Given the description of an element on the screen output the (x, y) to click on. 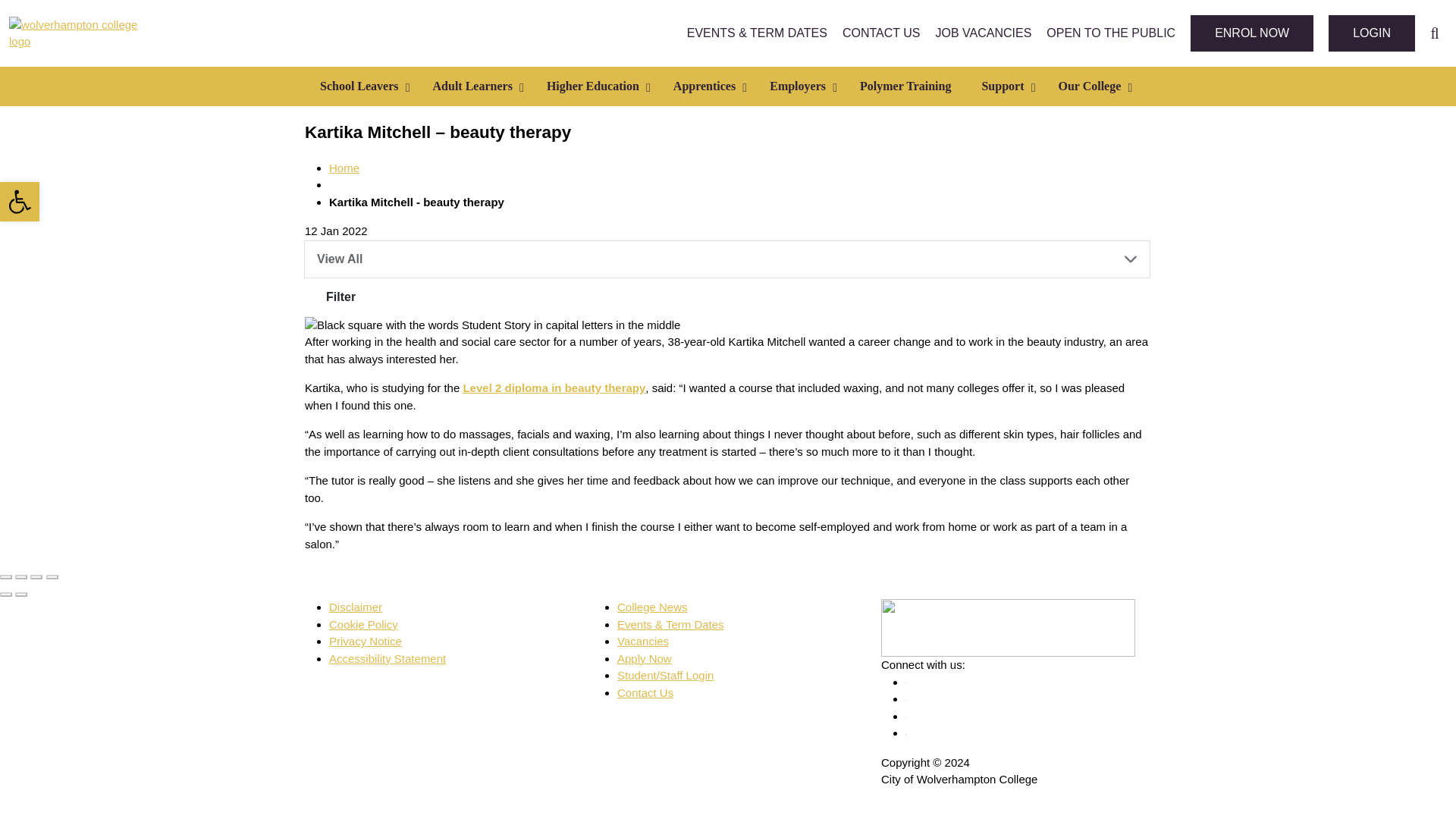
Toggle fullscreen (36, 576)
LOGIN (1371, 33)
CONTACT US (881, 33)
Kartika Mitchell - beauty therapy (416, 201)
Homepage (344, 167)
Accessibility Tools (19, 201)
OPEN TO THE PUBLIC (1110, 33)
Search (1434, 33)
Share (20, 576)
